Given the description of an element on the screen output the (x, y) to click on. 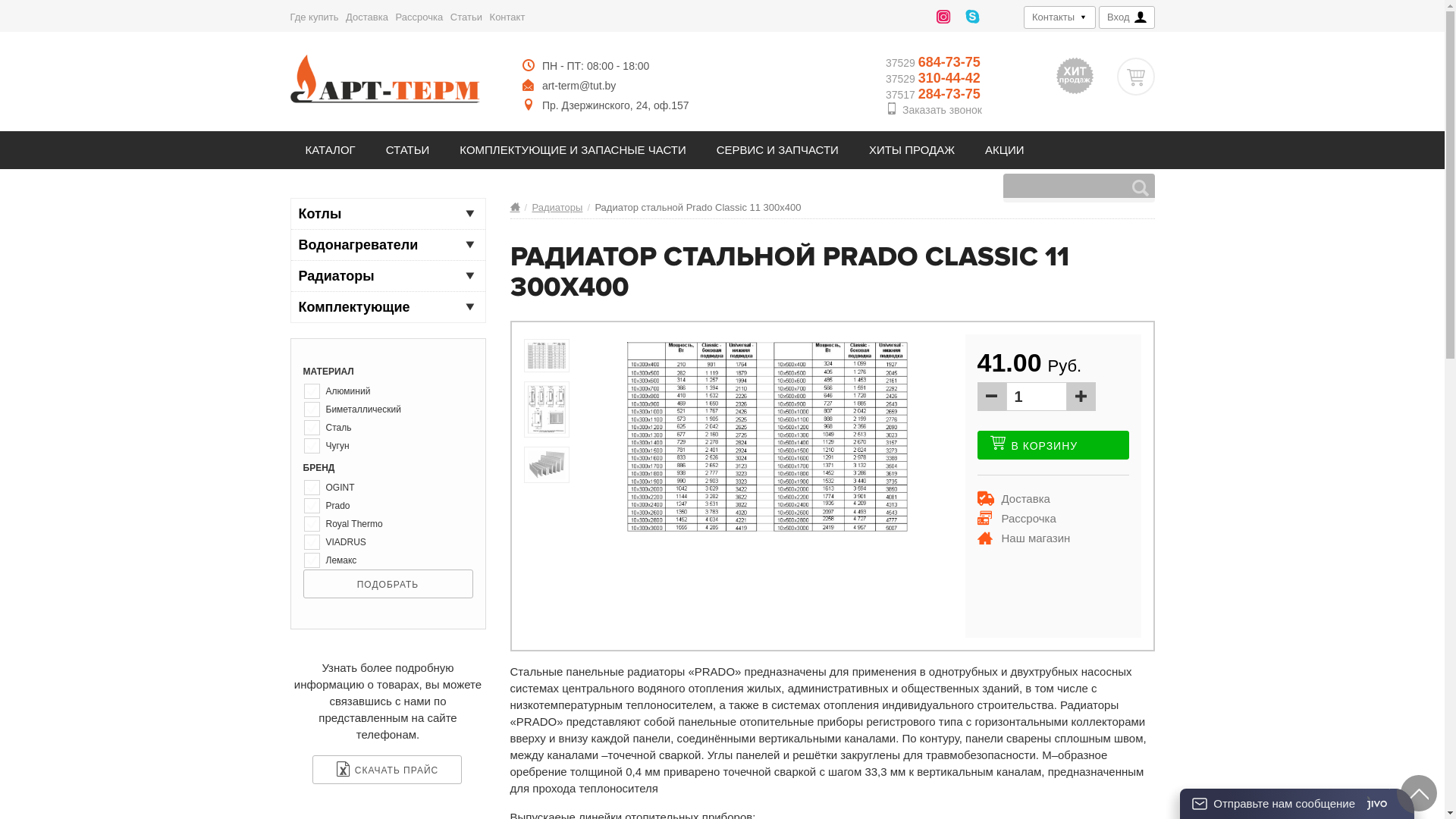
37529 310-44-42 Element type: text (933, 78)
37517 284-73-75 Element type: text (933, 94)
37529 684-73-75 Element type: text (933, 62)
